Given the description of an element on the screen output the (x, y) to click on. 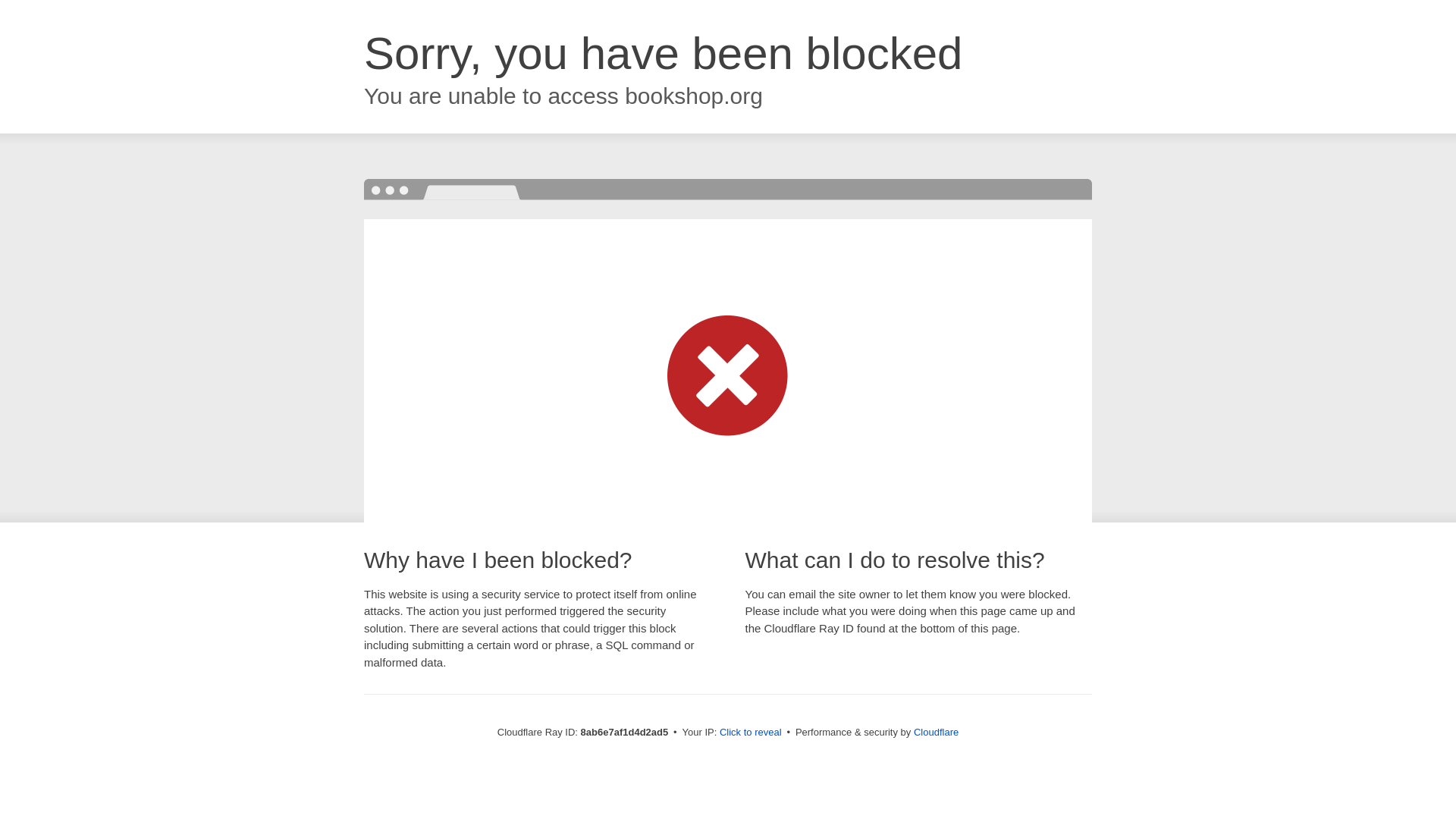
Cloudflare (936, 731)
Click to reveal (750, 732)
